Given the description of an element on the screen output the (x, y) to click on. 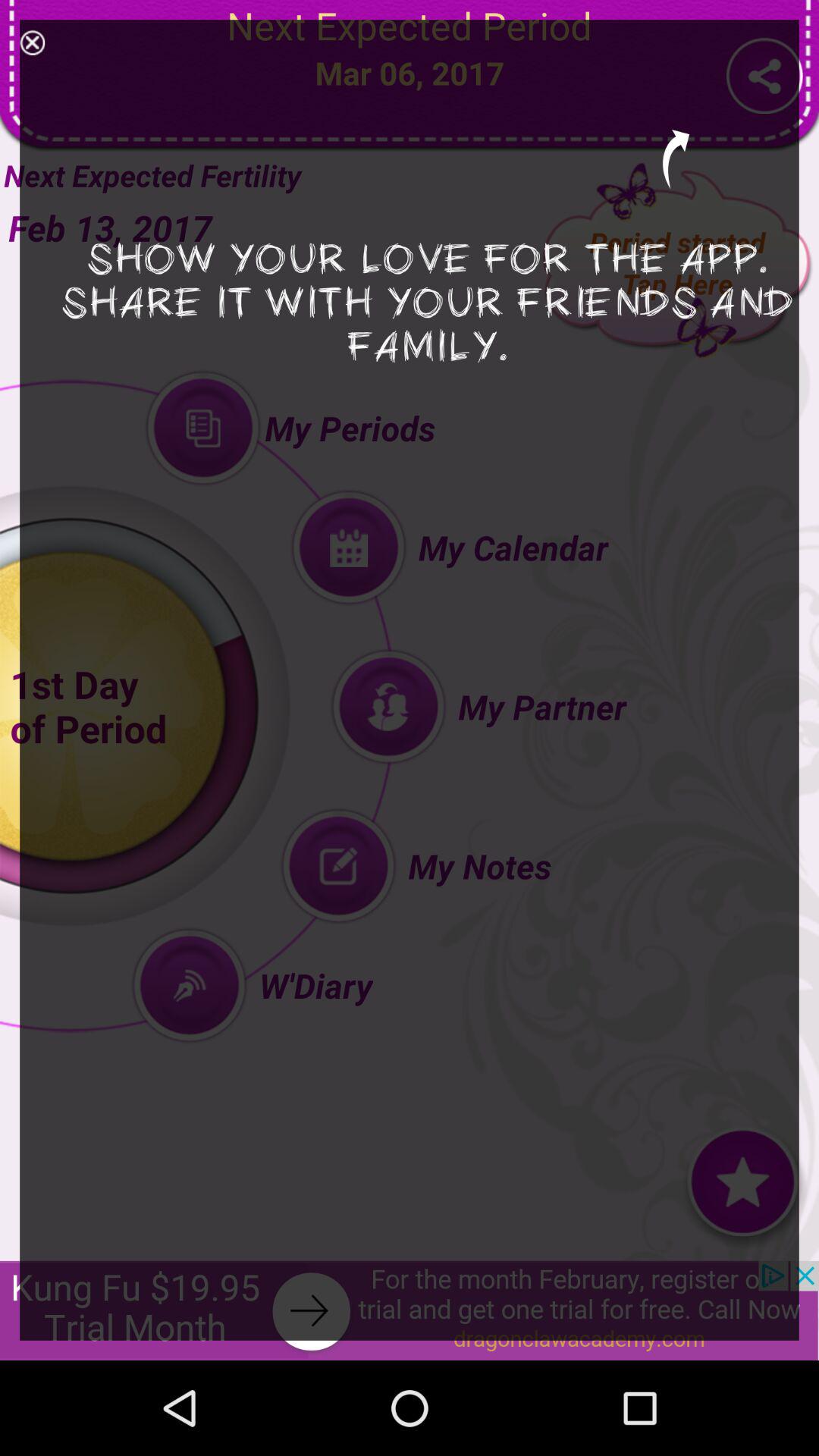
close share app prompt (31, 42)
